Given the description of an element on the screen output the (x, y) to click on. 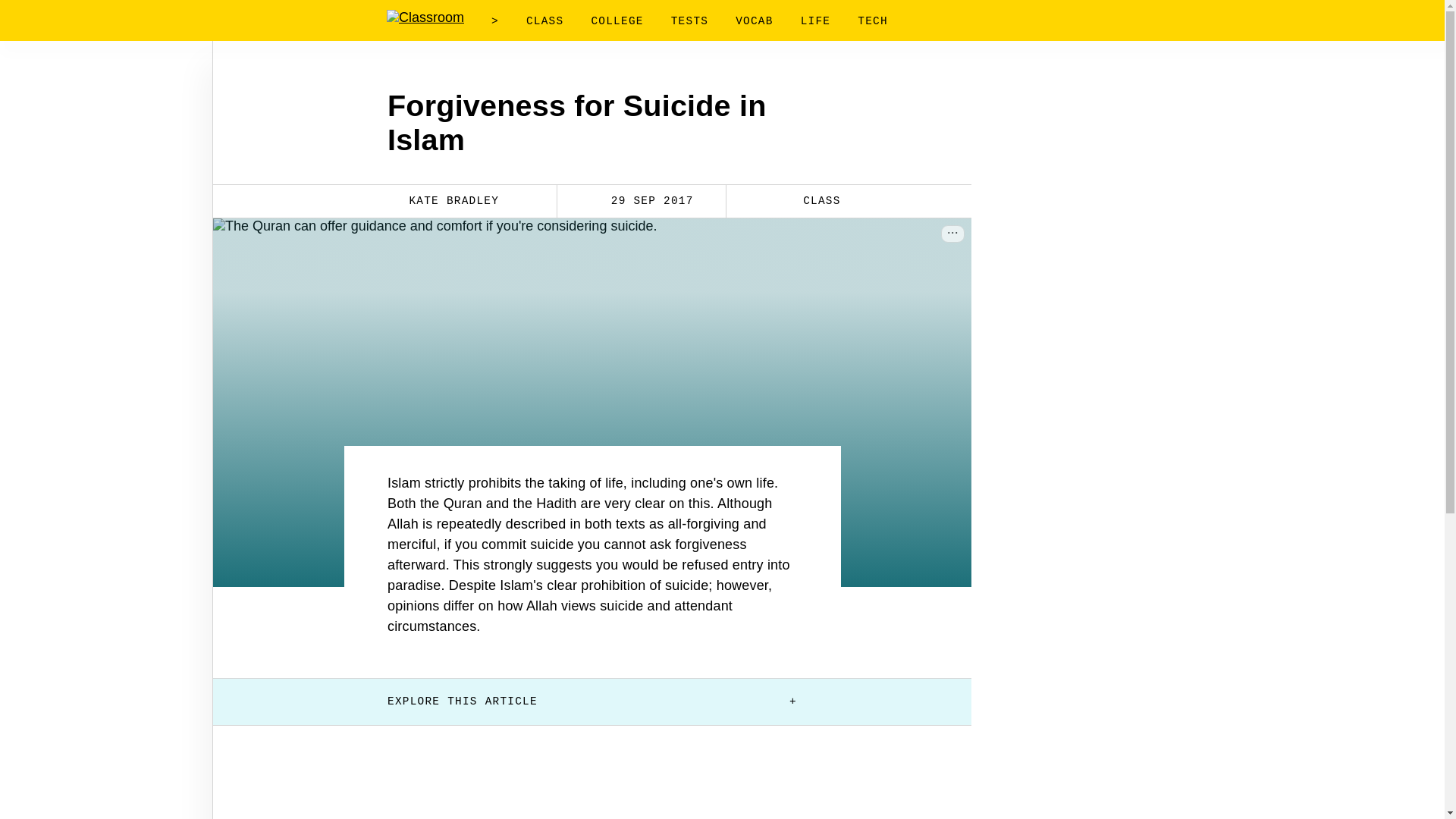
COLLEGE (617, 21)
TECH (872, 21)
CLASS (544, 21)
LIFE (815, 21)
VOCAB (754, 21)
TESTS (689, 21)
CLASS (811, 200)
